Given the description of an element on the screen output the (x, y) to click on. 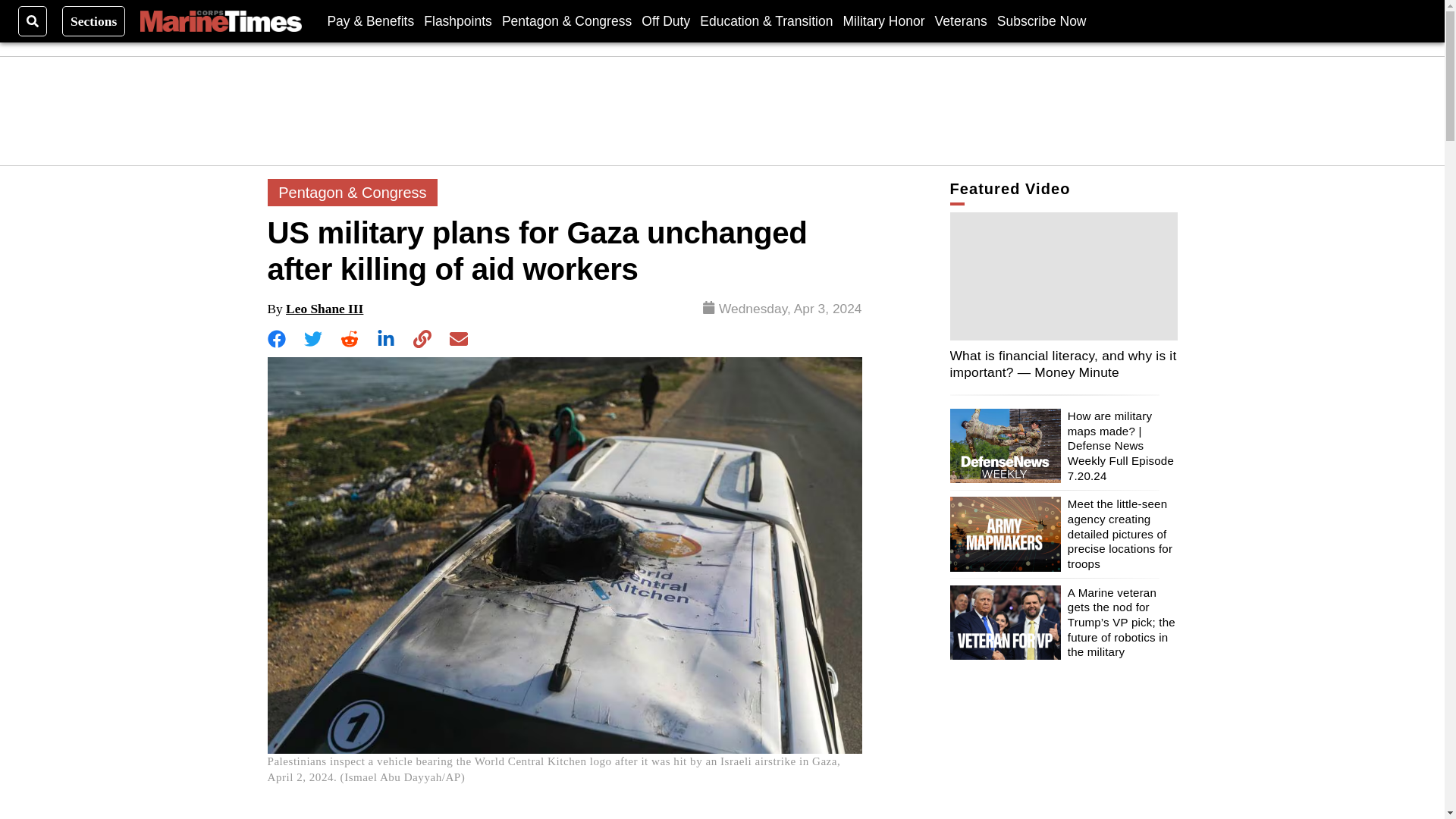
Marine Corps Times Logo (220, 20)
Sections (93, 20)
Flashpoints (457, 20)
Off Duty (666, 20)
Military Honor (883, 20)
3rd party ad content (722, 110)
Veterans (960, 20)
